Given the description of an element on the screen output the (x, y) to click on. 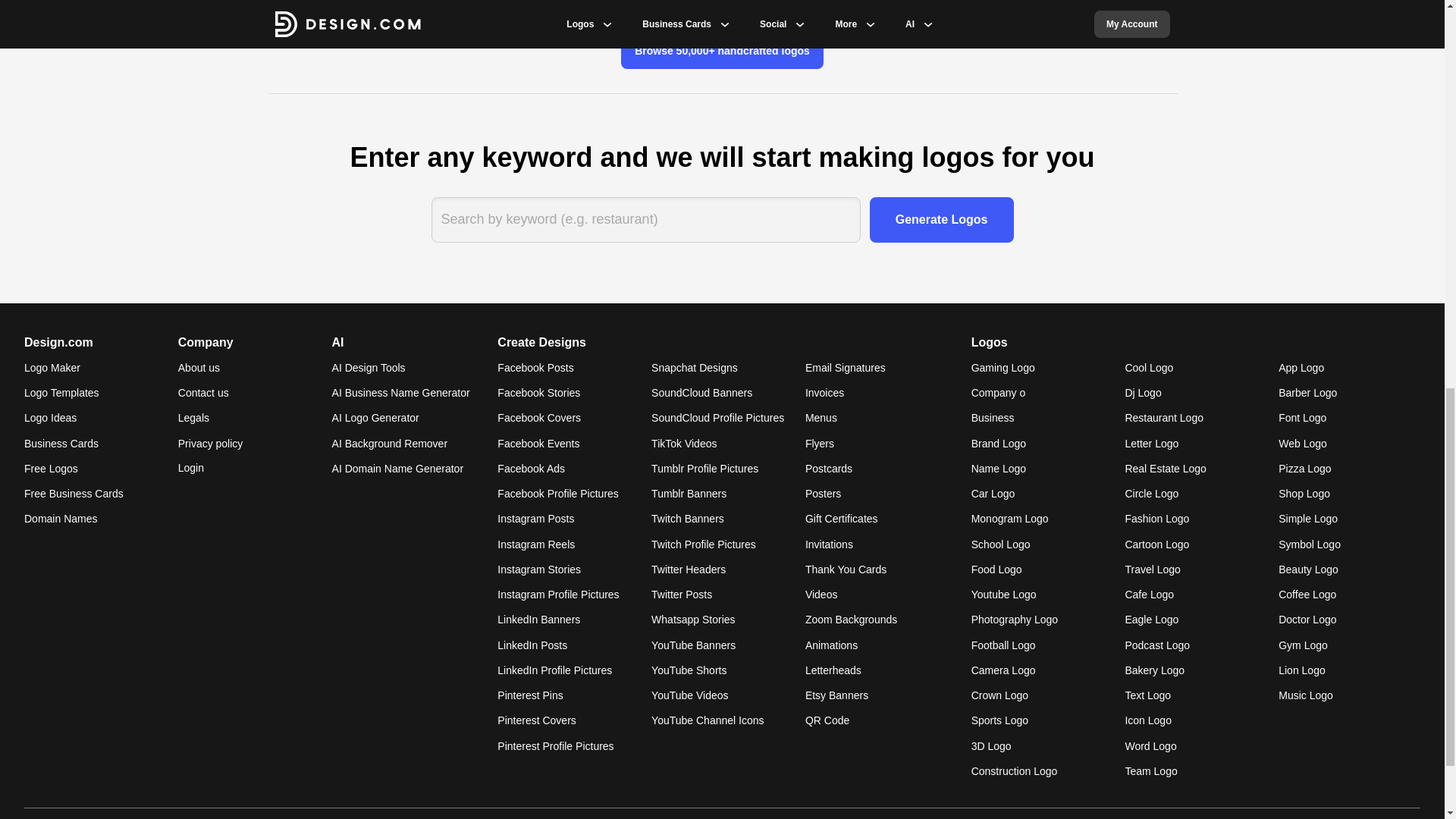
twitter (1359, 818)
facebook (1323, 818)
instagram (1395, 818)
